Given the description of an element on the screen output the (x, y) to click on. 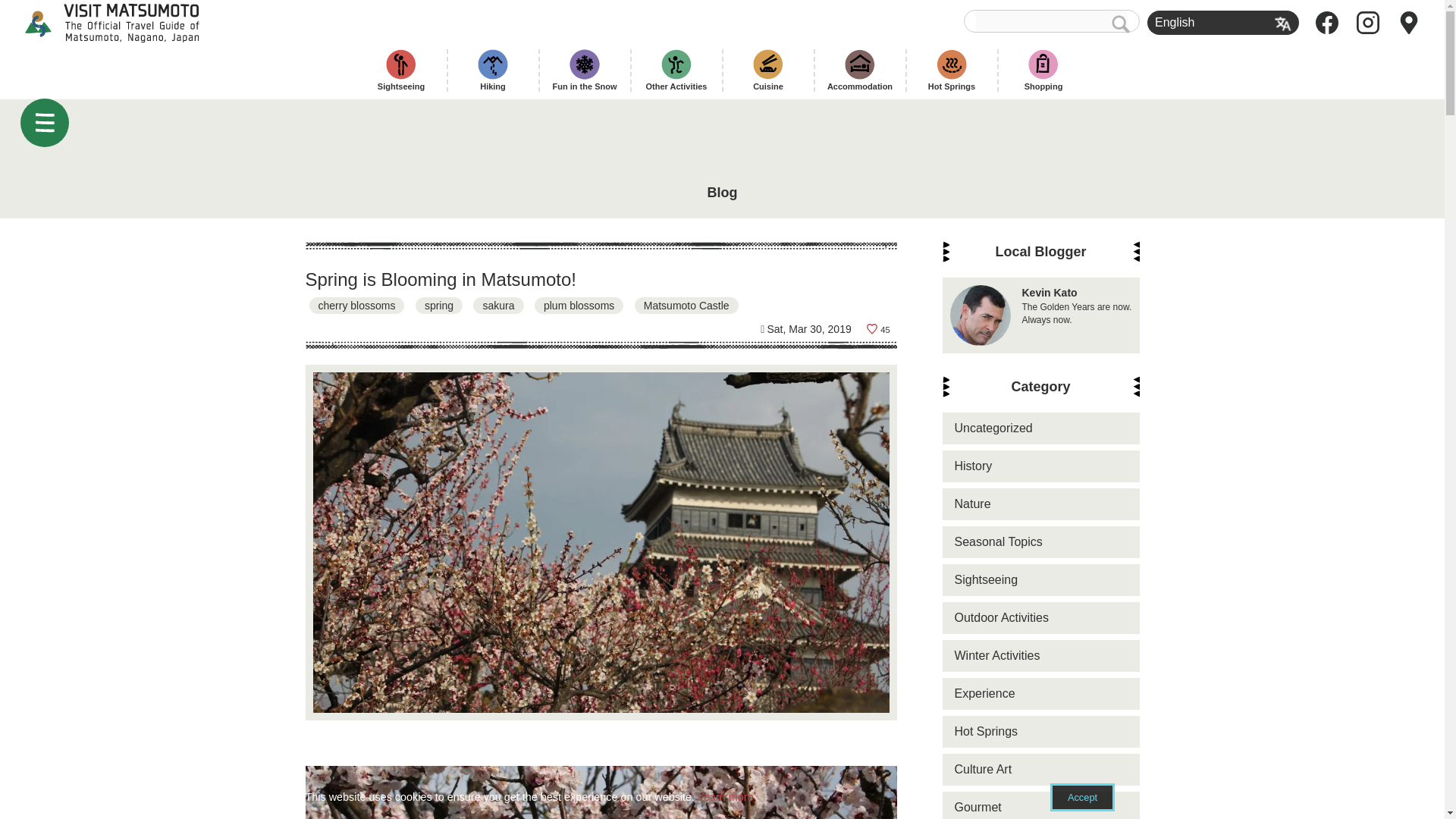
Matsumoto Castle (686, 305)
Visit Matsumoto (124, 22)
Other Activities (675, 69)
Hiking (492, 69)
Sightseeing (1040, 580)
Hot Springs (1040, 731)
Accommodation (1040, 315)
Uncategorized (859, 69)
Nature (1040, 428)
Fun in the Snow (1040, 504)
Sightseeing (584, 69)
Seasonal Topics (401, 69)
Culture Art (1040, 541)
English (1040, 769)
